Given the description of an element on the screen output the (x, y) to click on. 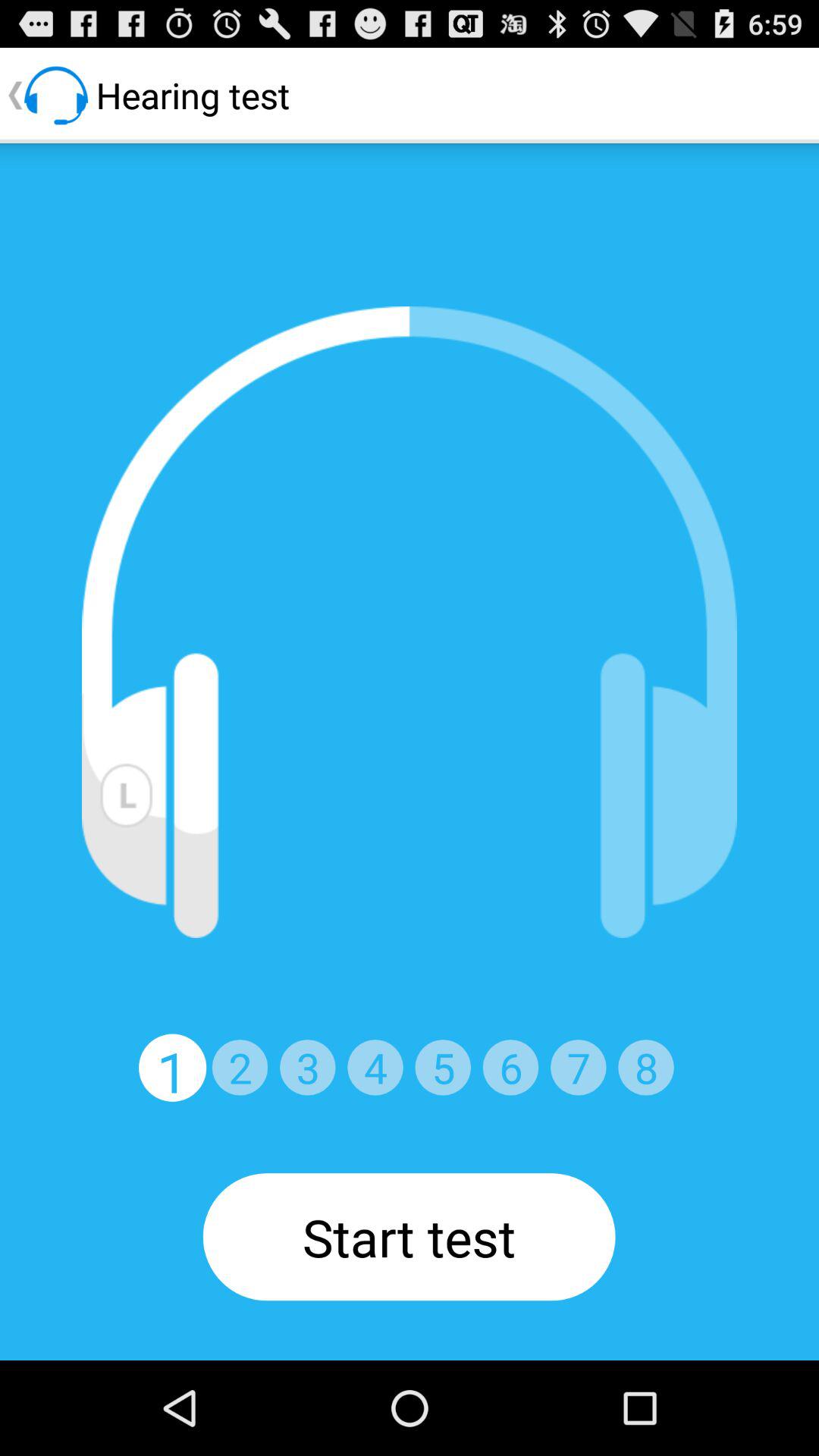
tap the item below 1 (409, 1236)
